Given the description of an element on the screen output the (x, y) to click on. 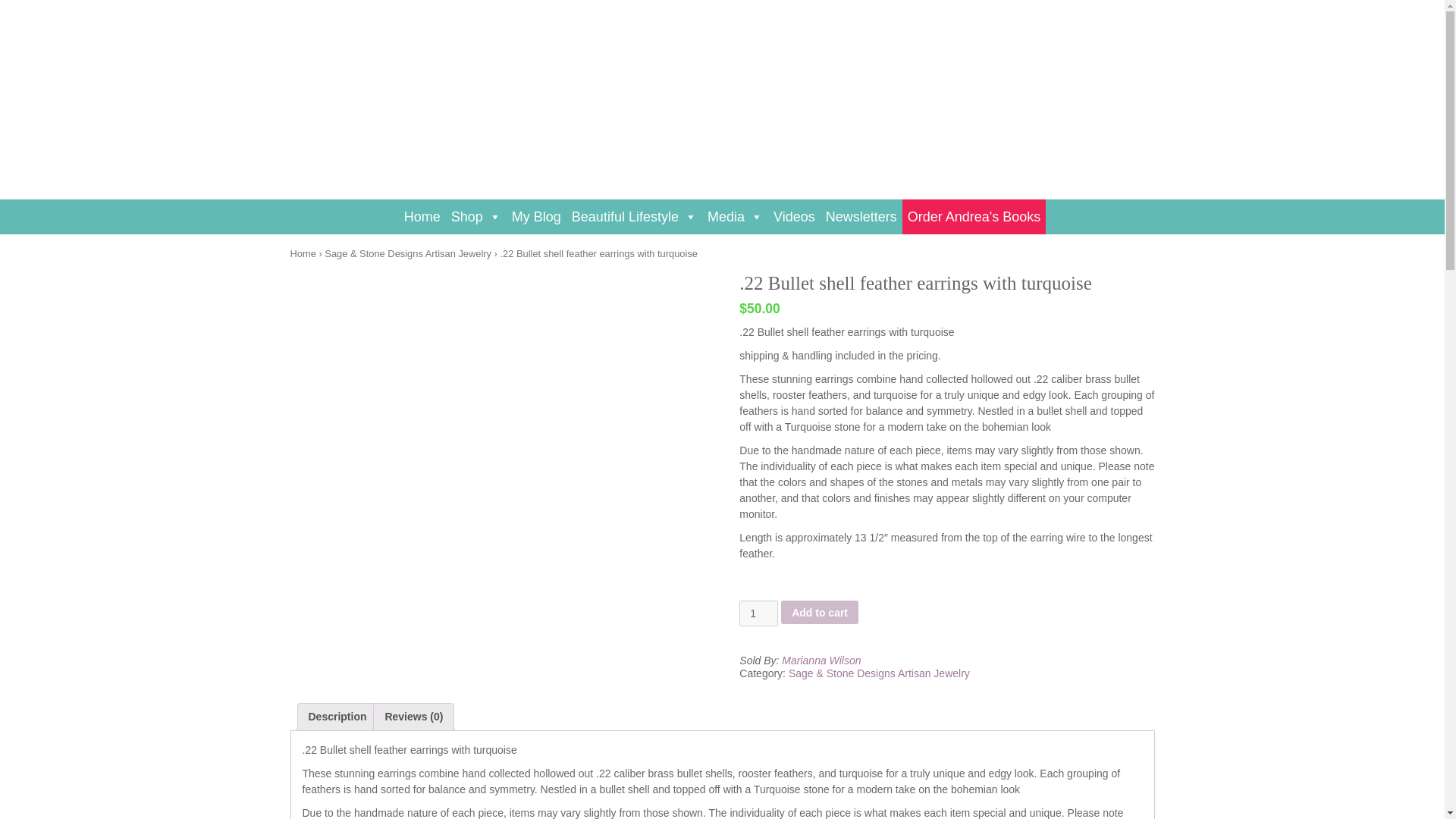
1 (758, 613)
Beautiful Lifestyle (633, 216)
Qty (758, 613)
Marianna Wilson (820, 660)
Add to cart (819, 612)
Newsletters (861, 216)
Home (302, 253)
Description (336, 716)
Media (734, 216)
Home (421, 216)
